Given the description of an element on the screen output the (x, y) to click on. 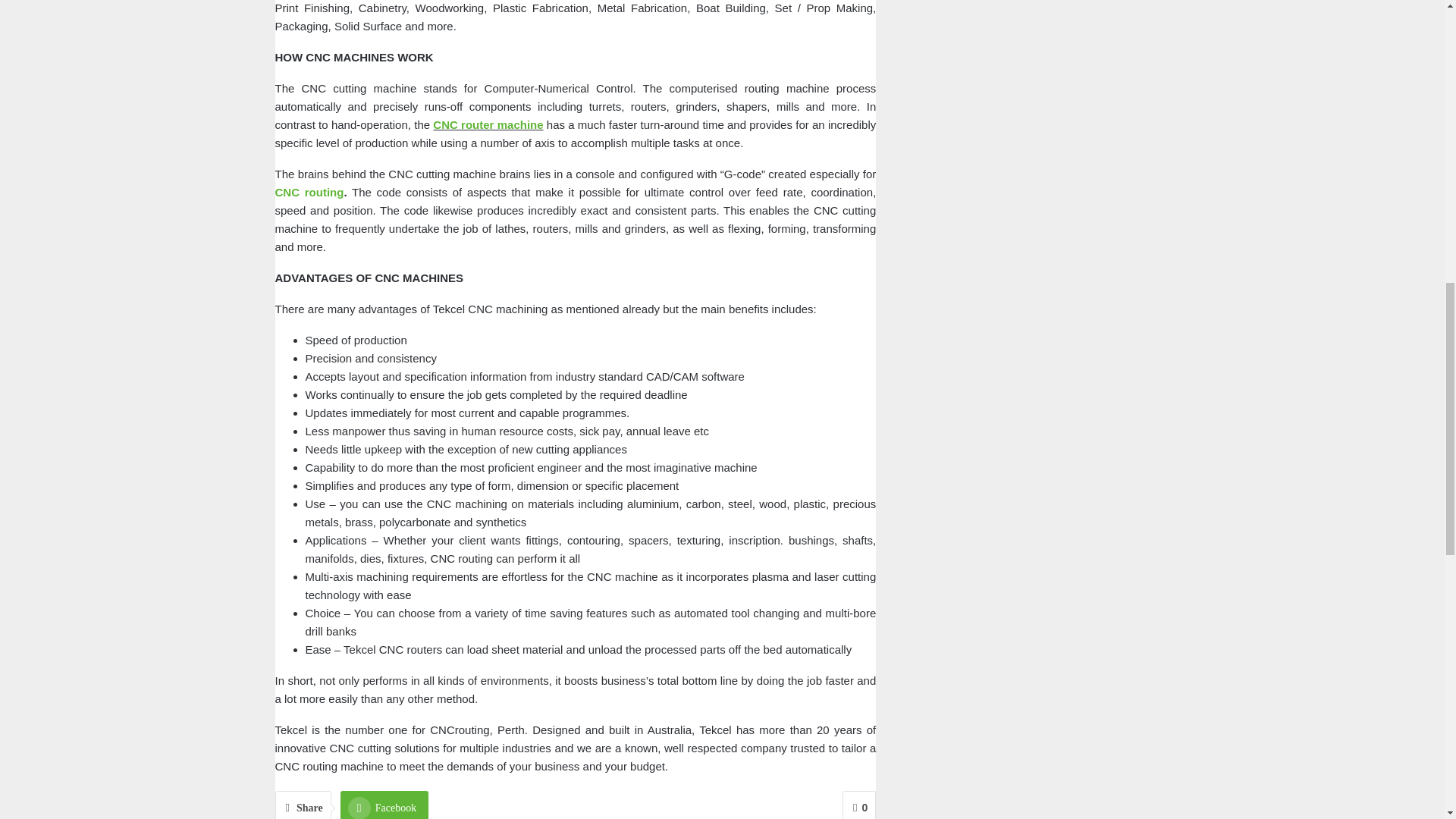
CNC router machine (487, 124)
Facebook (384, 805)
0 (859, 805)
CNC routing (309, 192)
